Given the description of an element on the screen output the (x, y) to click on. 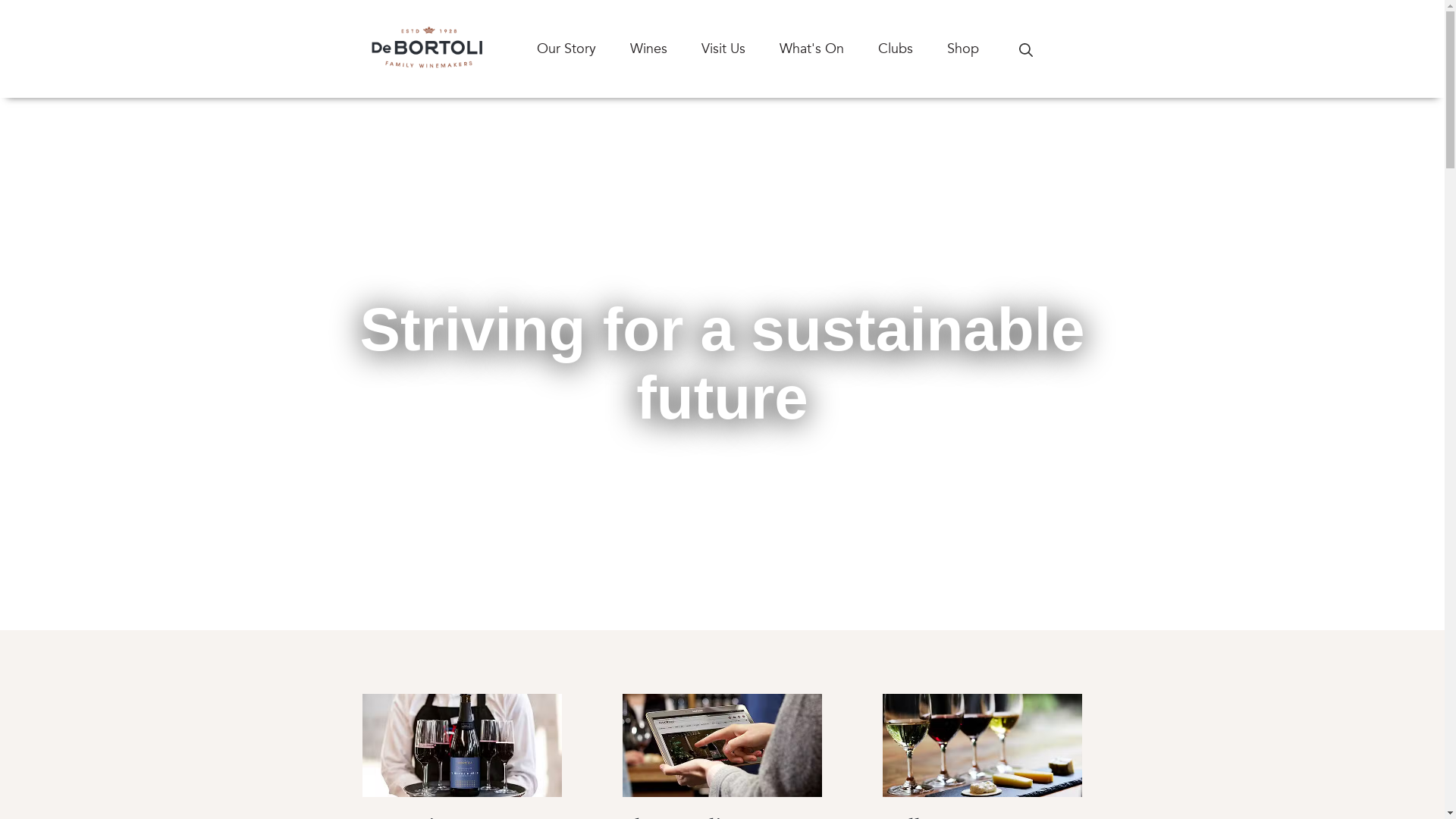
Our Story Element type: text (583, 48)
Visit Us Element type: text (739, 48)
Home Element type: text (426, 48)
What's On Element type: text (828, 48)
Shop Element type: text (979, 48)
Clubs Element type: text (912, 48)
Wines Element type: text (664, 48)
